Given the description of an element on the screen output the (x, y) to click on. 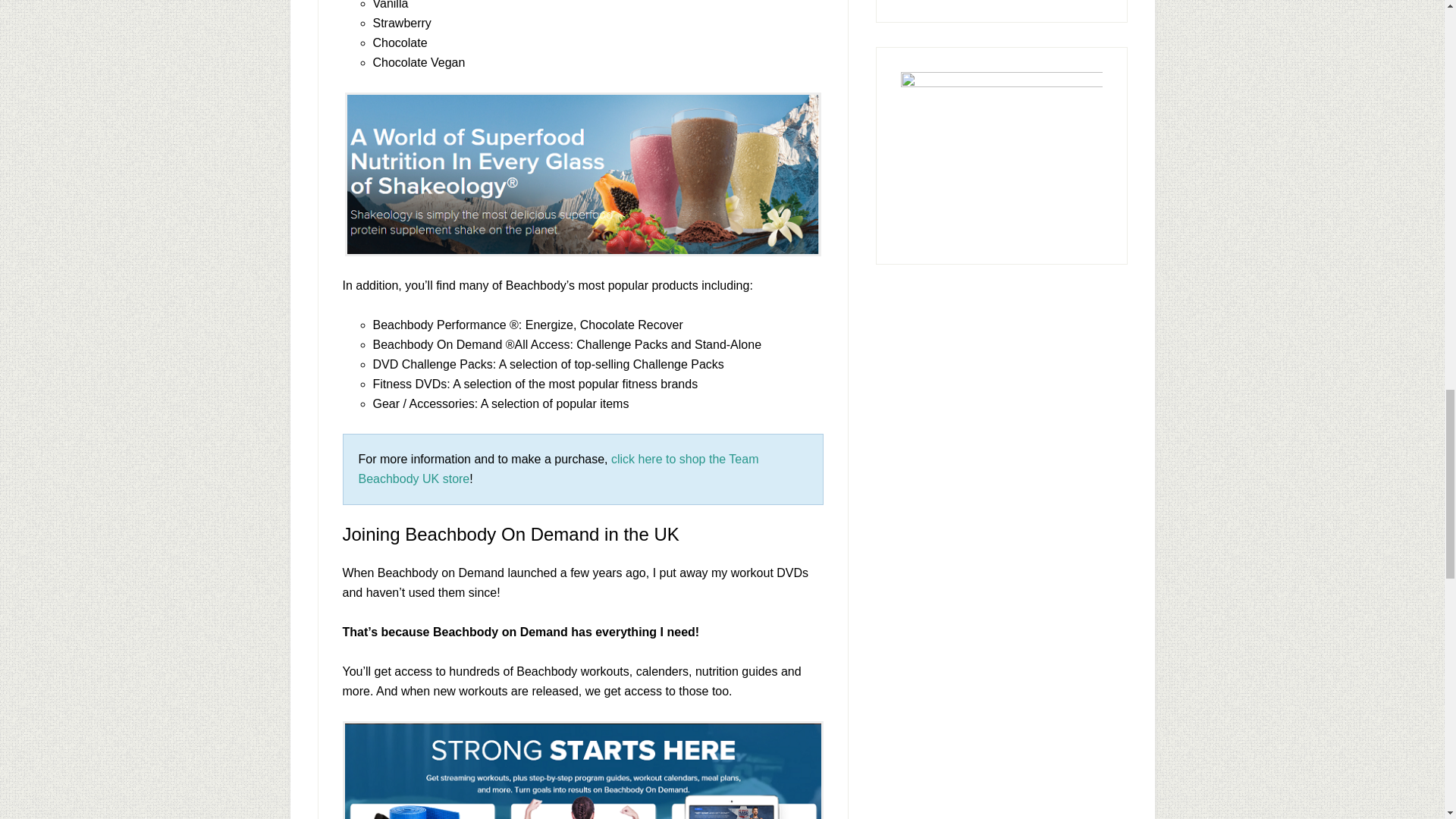
click here to shop the Team Beachbody UK store (558, 468)
